Given the description of an element on the screen output the (x, y) to click on. 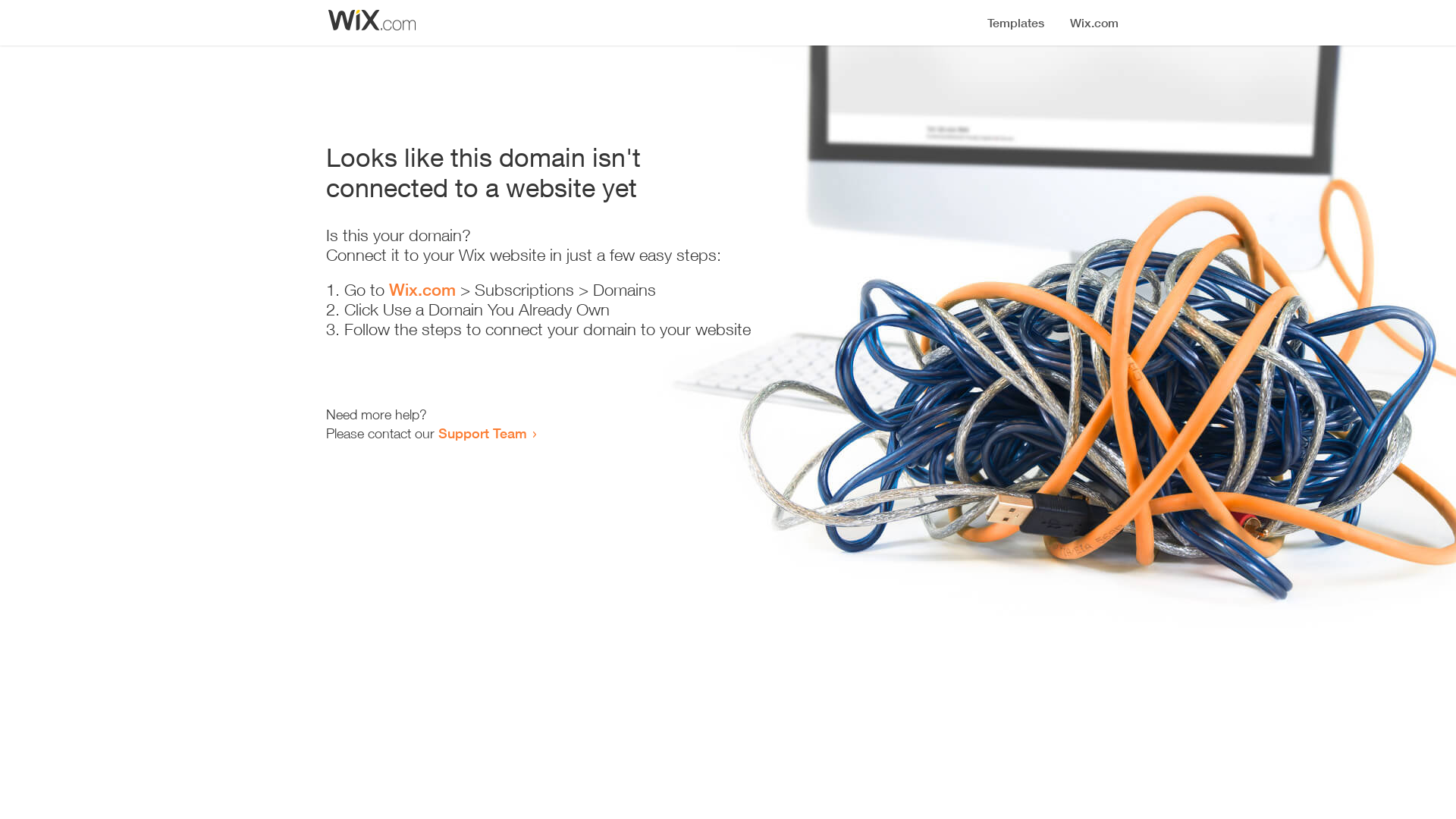
Wix.com Element type: text (422, 289)
Support Team Element type: text (482, 432)
